Given the description of an element on the screen output the (x, y) to click on. 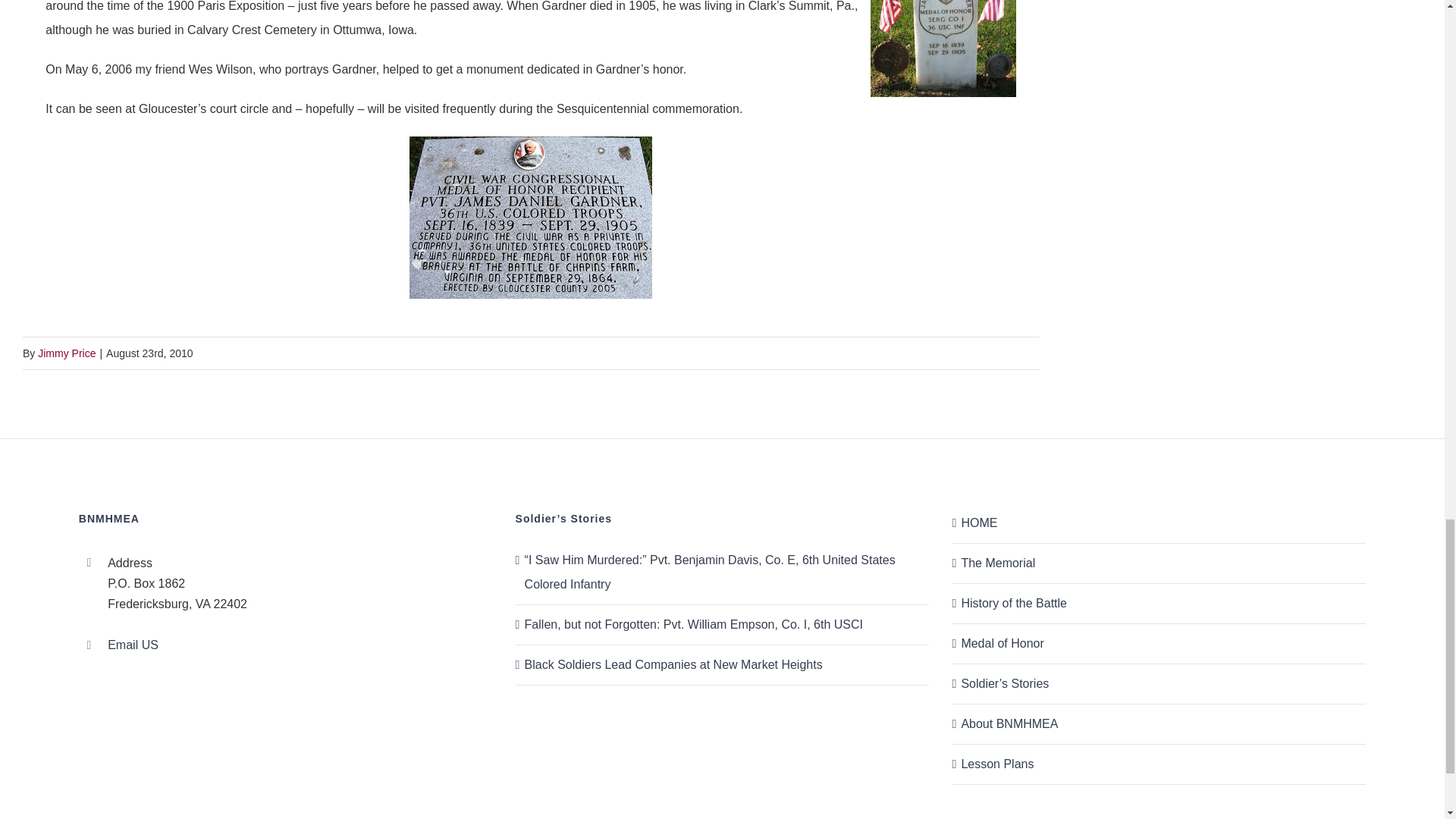
Posts by Jimmy Price (66, 353)
Jimmy Price (66, 353)
